Given the description of an element on the screen output the (x, y) to click on. 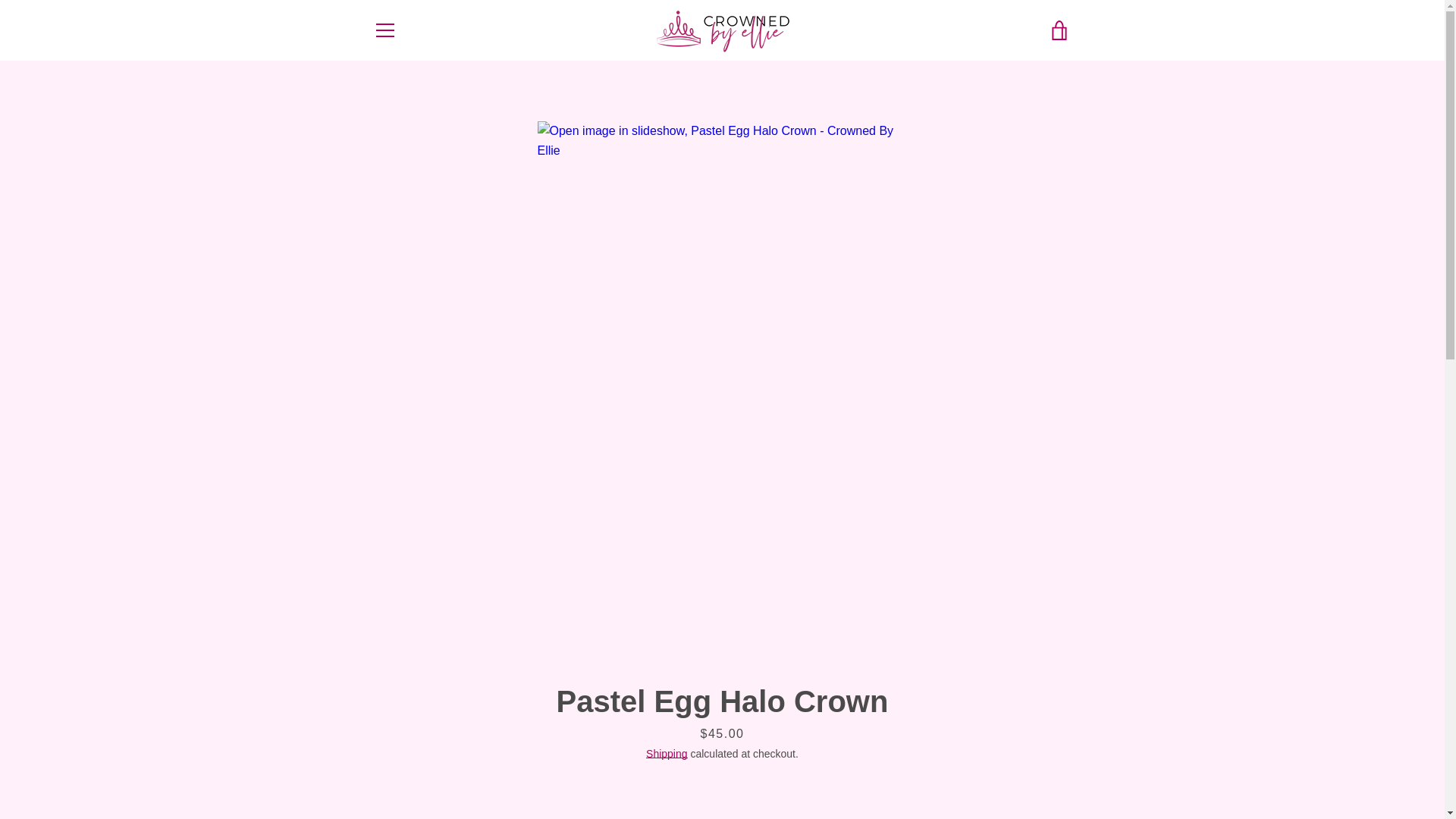
MENU (384, 30)
